Given the description of an element on the screen output the (x, y) to click on. 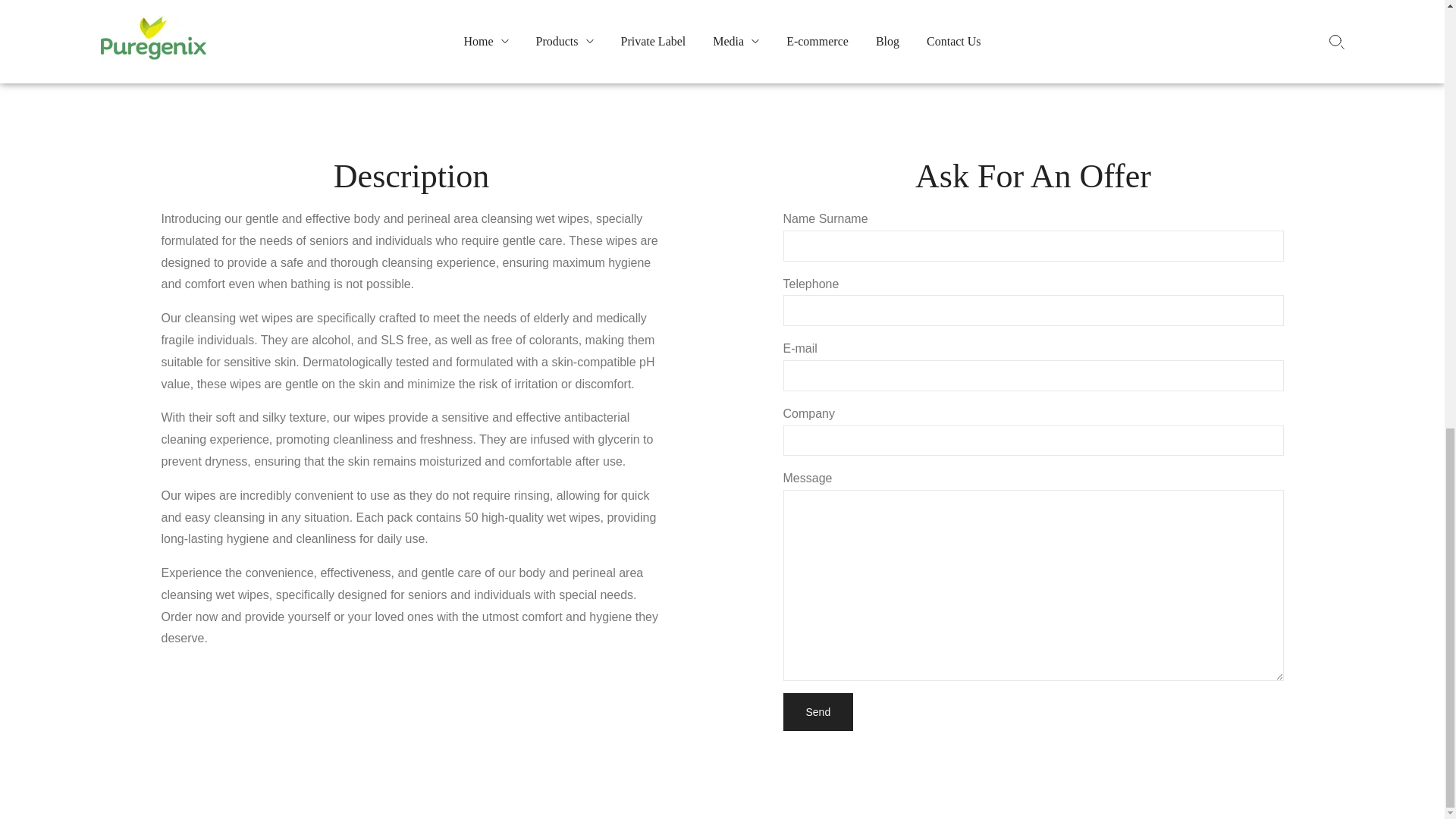
Send (818, 711)
